Given the description of an element on the screen output the (x, y) to click on. 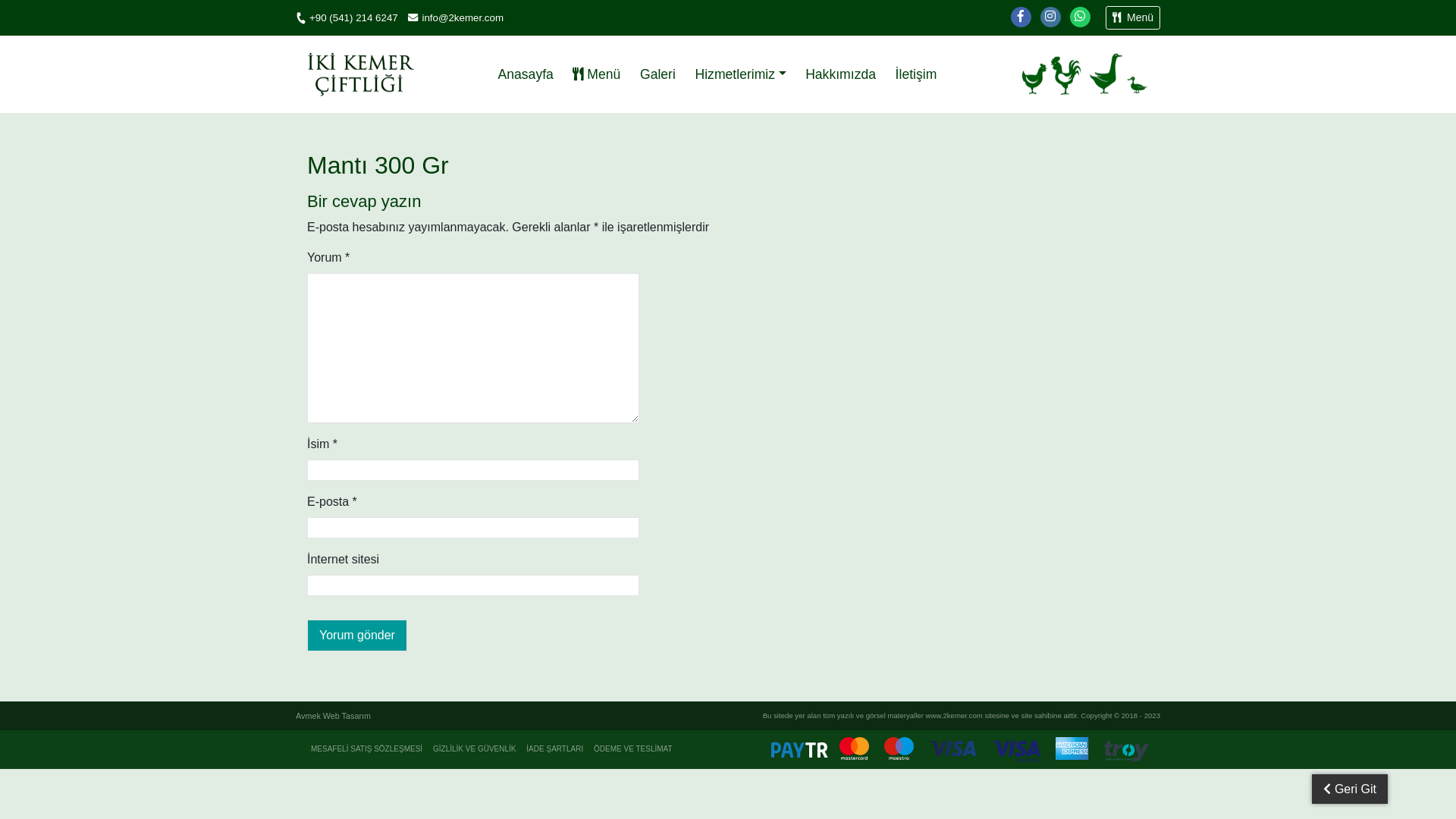
instagram Element type: hover (1050, 16)
+90 (541) 214 6247 Element type: text (347, 17)
whatsApp Element type: hover (1080, 16)
Geri Git Element type: text (1349, 788)
Hizmetlerimiz Element type: text (740, 74)
Anasayfa Element type: text (525, 74)
info@2kemer.com Element type: text (455, 17)
facebook Element type: hover (1020, 16)
Galeri Element type: text (657, 74)
